Given the description of an element on the screen output the (x, y) to click on. 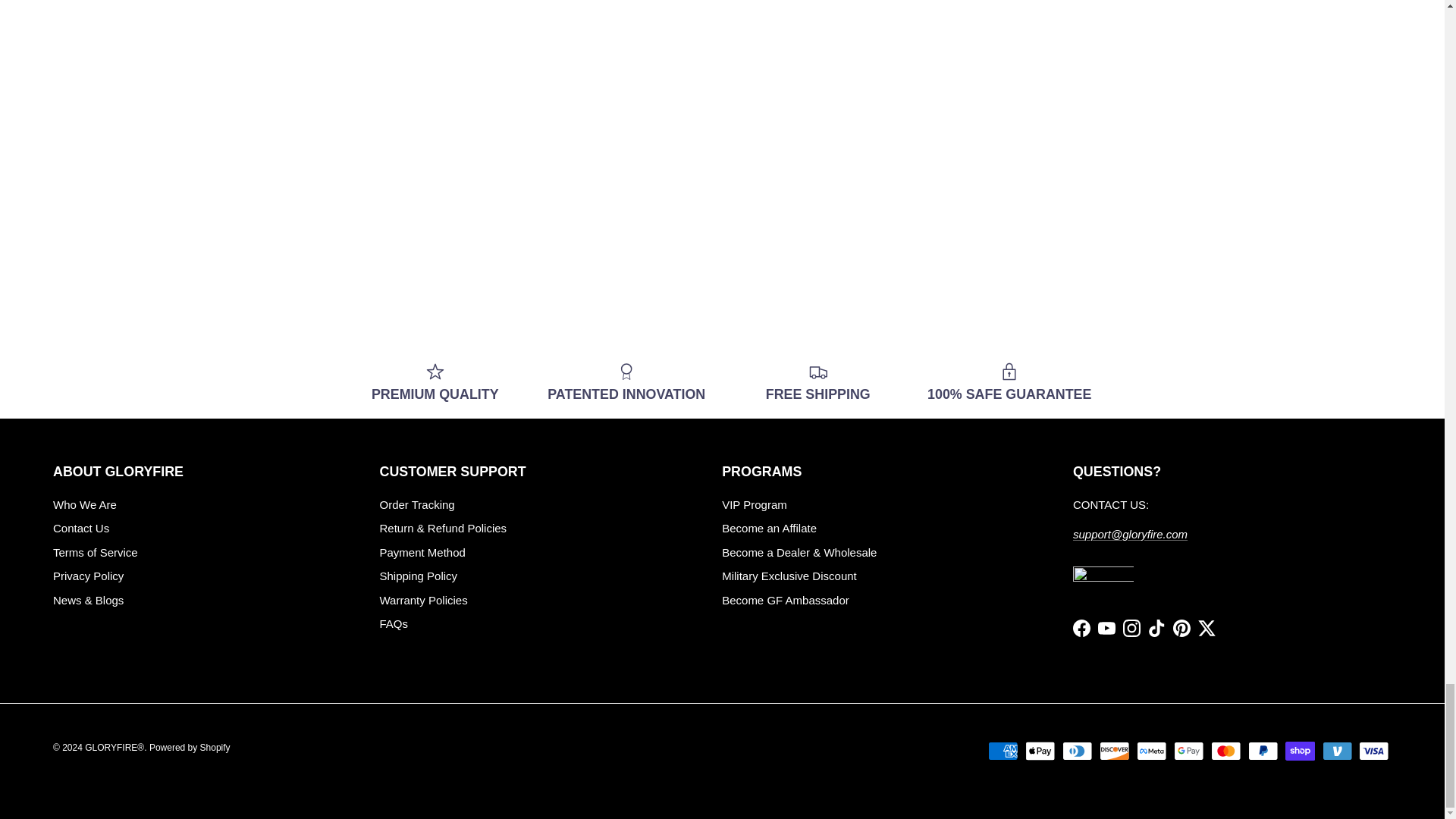
American Express (1002, 751)
Apple Pay (1040, 751)
